Given the description of an element on the screen output the (x, y) to click on. 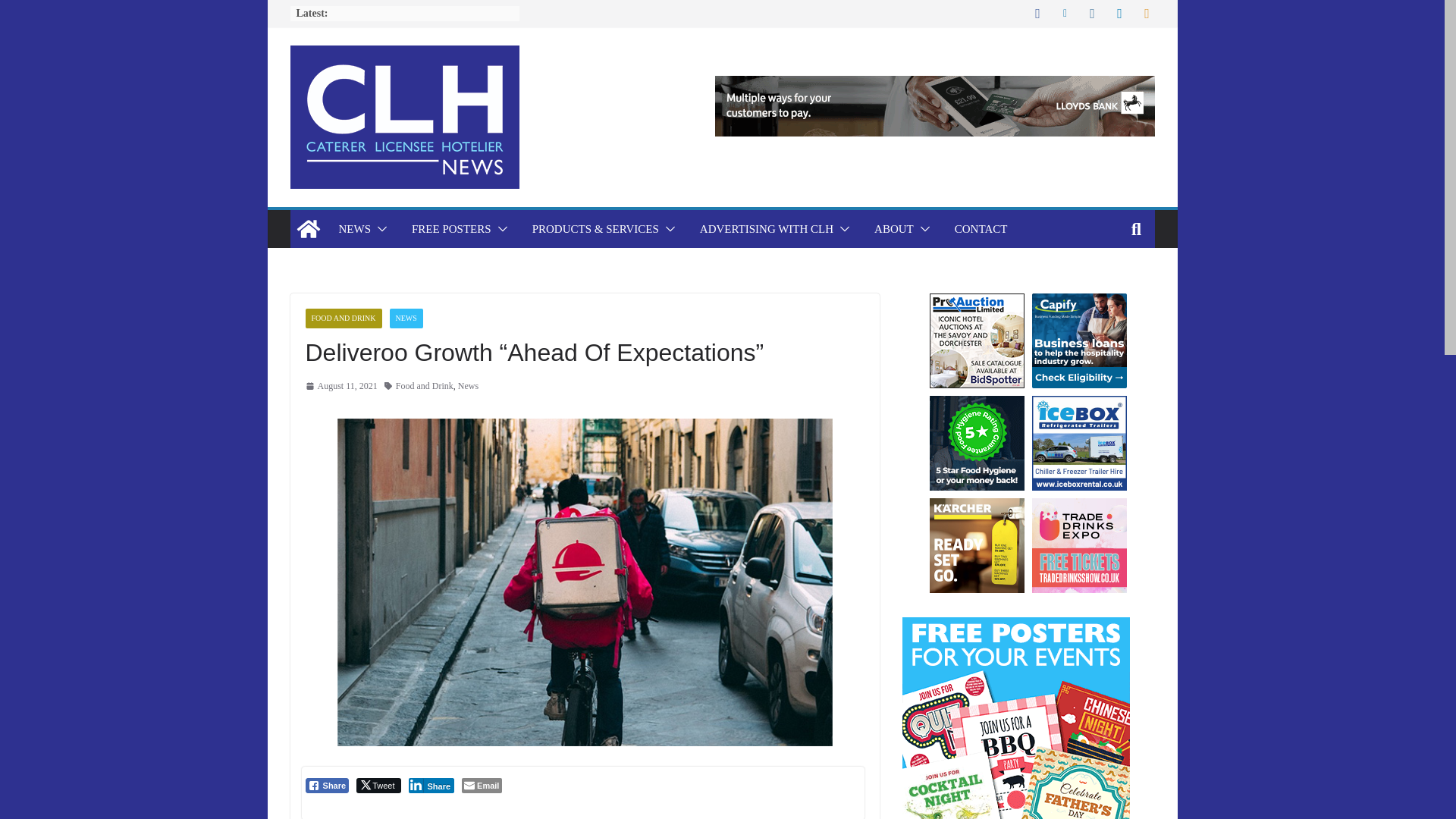
11:34 am (340, 386)
NEWS (354, 228)
FREE POSTERS (452, 228)
CLH News: Caterer, Licensee and Hotelier News (307, 228)
